Given the description of an element on the screen output the (x, y) to click on. 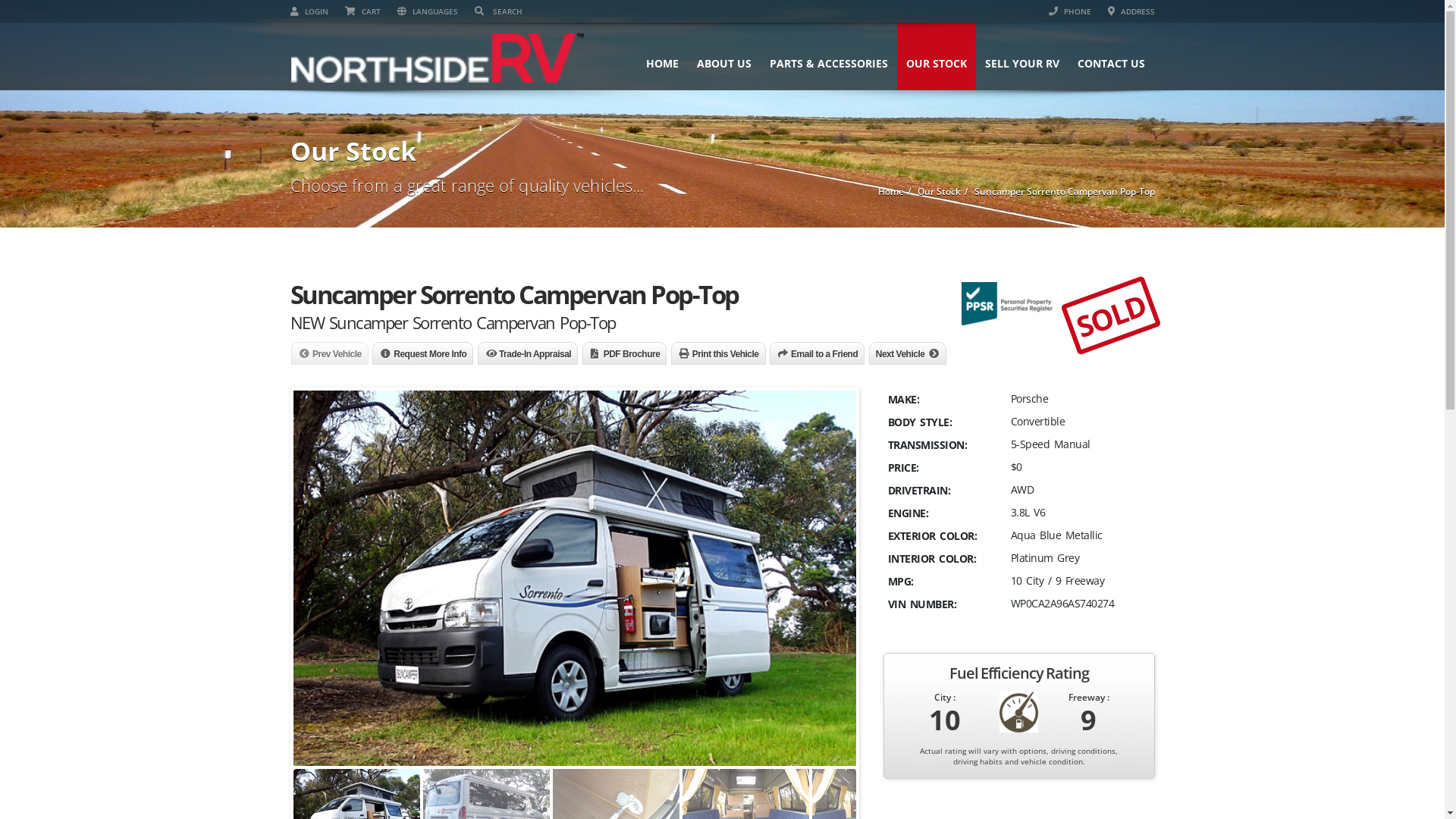
Our Stock Element type: text (938, 191)
PHONE Element type: text (1069, 11)
Email to a Friend Element type: text (816, 354)
Print this Vehicle Element type: text (718, 354)
HOME Element type: text (662, 56)
SELL YOUR RV Element type: text (1021, 56)
LANGUAGES Element type: text (427, 11)
CONTACT US Element type: text (1110, 56)
Prev Vehicle Element type: text (329, 354)
Home Element type: text (890, 191)
ADDRESS Element type: text (1130, 11)
Request More Info Element type: text (422, 354)
Next Vehicle Element type: text (907, 354)
OUR STOCK Element type: text (935, 56)
PARTS & ACCESSORIES Element type: text (827, 56)
ABOUT US Element type: text (723, 56)
CART Element type: text (361, 11)
LOGIN Element type: text (308, 11)
Suncamper Sorrento Campervan Pop-Top Element type: text (1063, 191)
Trade-In Appraisal Element type: text (527, 354)
PDF Brochure Element type: text (624, 354)
